Given the description of an element on the screen output the (x, y) to click on. 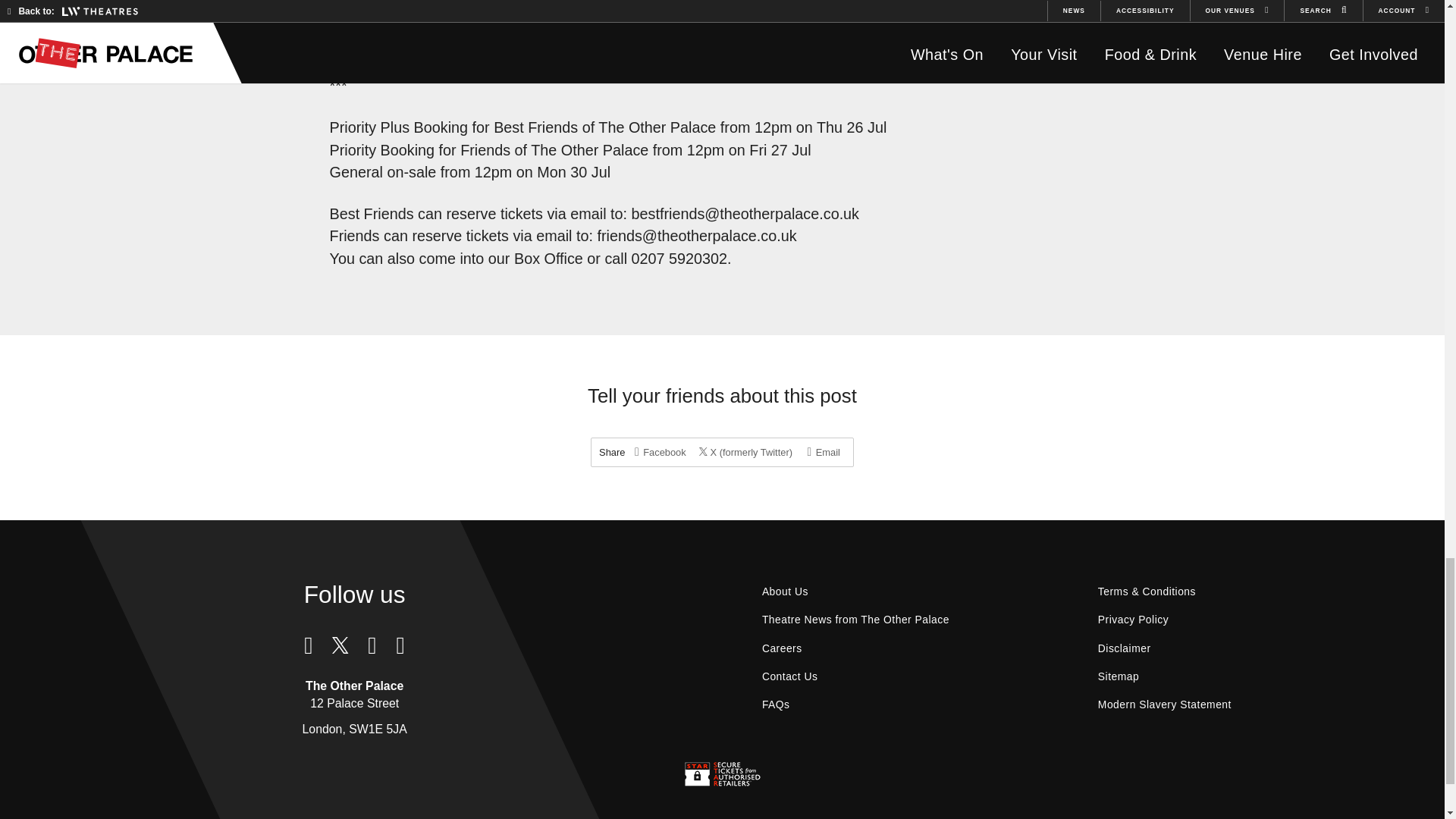
Contact Us (790, 676)
FAQs (776, 705)
Email (822, 451)
Careers (782, 648)
Theatre News from The Other Palace (855, 619)
Modern Slavery Statement (1164, 705)
Sitemap (1118, 676)
About Us (785, 592)
Facebook (659, 451)
Disclaimer (1123, 648)
Privacy Policy (1132, 619)
